Given the description of an element on the screen output the (x, y) to click on. 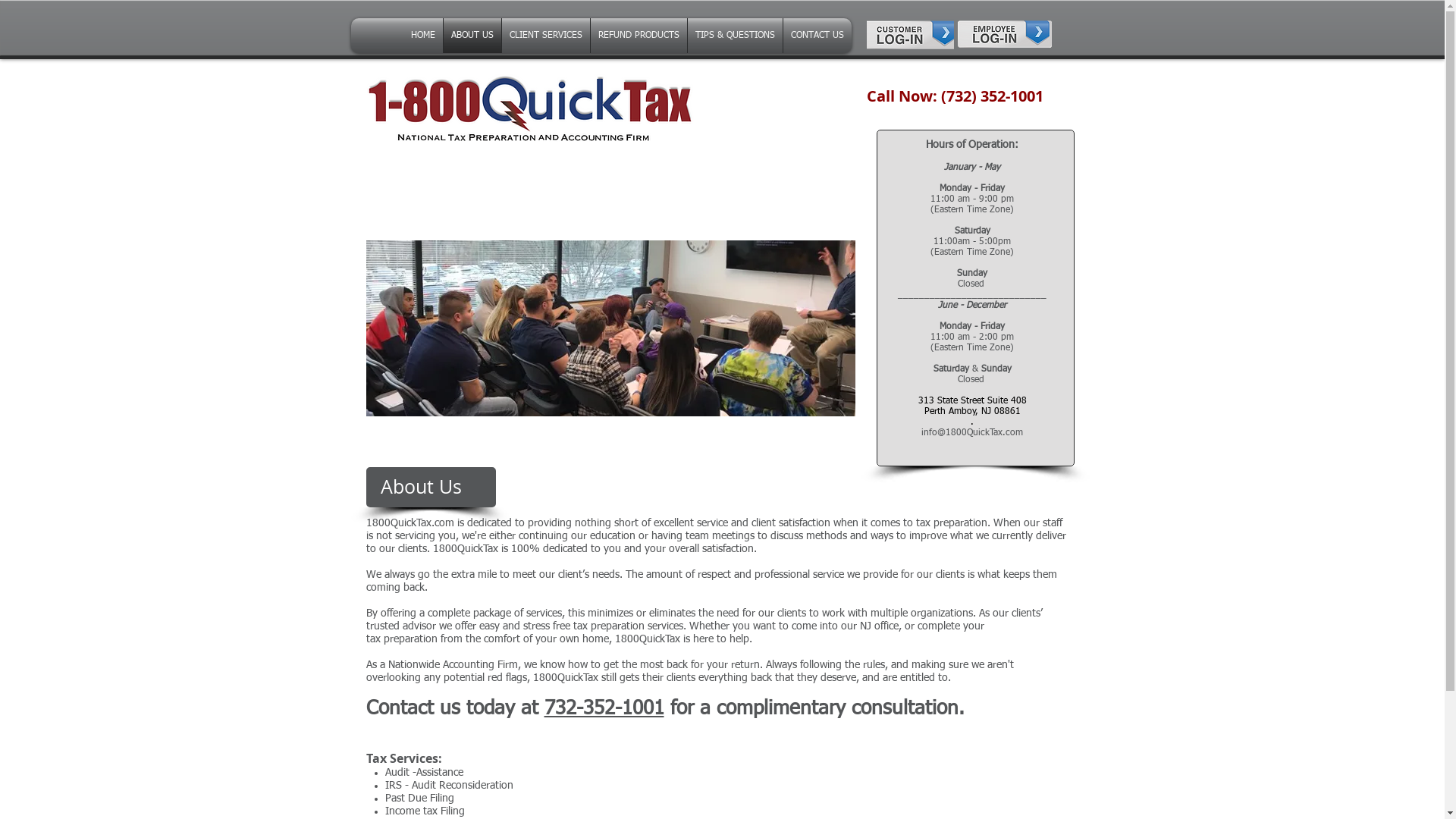
info@1800QuickTax.com Element type: text (971, 432)
TIPS & QUESTIONS Element type: text (734, 35)
732-352-1001 Element type: text (604, 708)
customerlogin.png Element type: hover (909, 35)
CLIENT SERVICES Element type: text (545, 35)
CONTACT US Element type: text (816, 35)
HOME Element type: text (422, 35)
ABOUT US Element type: text (471, 35)
1800QuickTax_edited.png Element type: hover (529, 106)
